Given the description of an element on the screen output the (x, y) to click on. 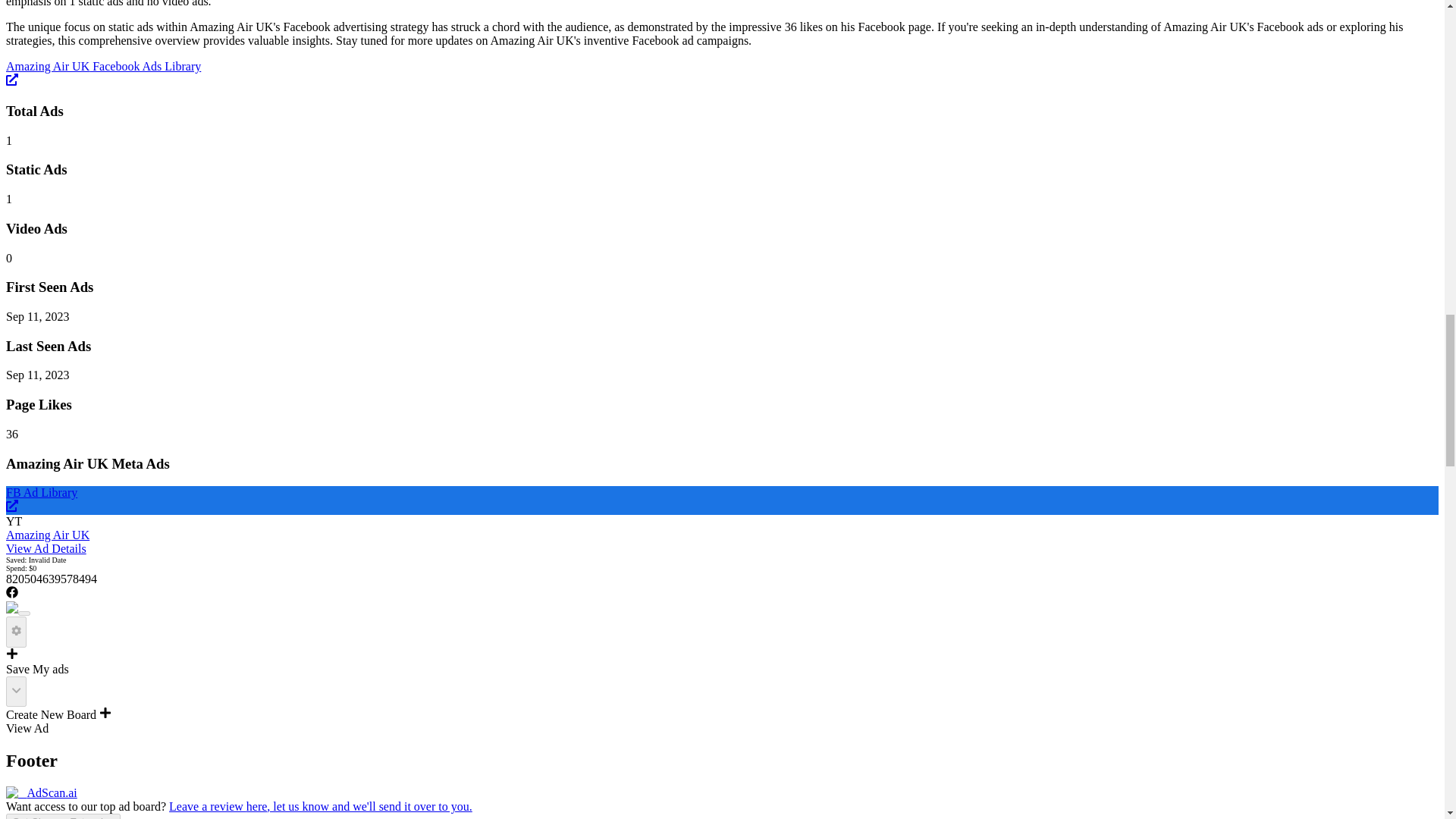
Get Chrome Extension (62, 816)
View Ad Details (45, 548)
AdScan.ai (41, 792)
Get Chrome Extension (62, 816)
Amazing Air UK (183, 541)
